Given the description of an element on the screen output the (x, y) to click on. 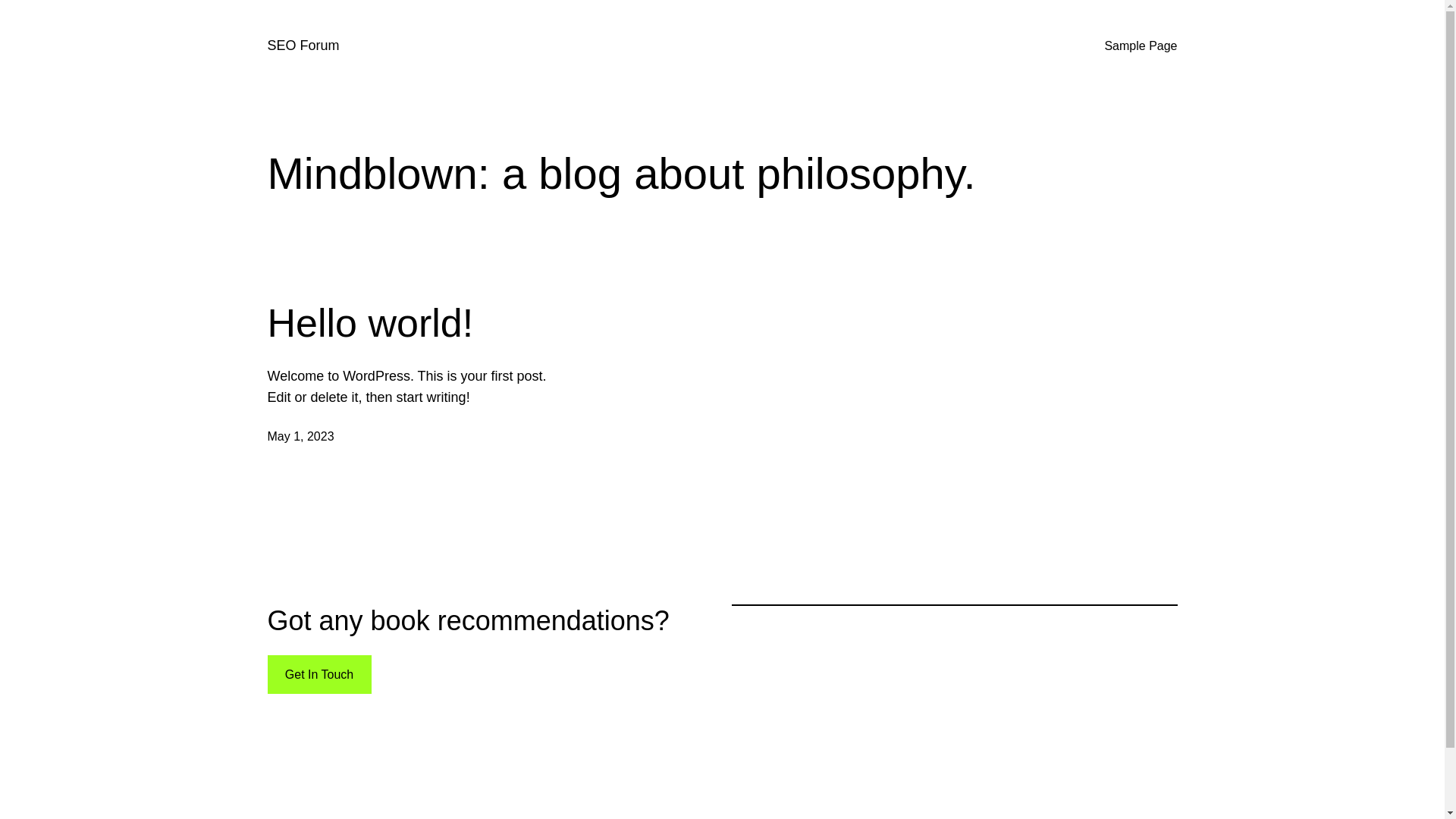
Sample Page Element type: text (1140, 46)
Get In Touch Element type: text (318, 674)
Hello world! Element type: text (369, 322)
SEO Forum Element type: text (302, 45)
May 1, 2023 Element type: text (299, 435)
